Given the description of an element on the screen output the (x, y) to click on. 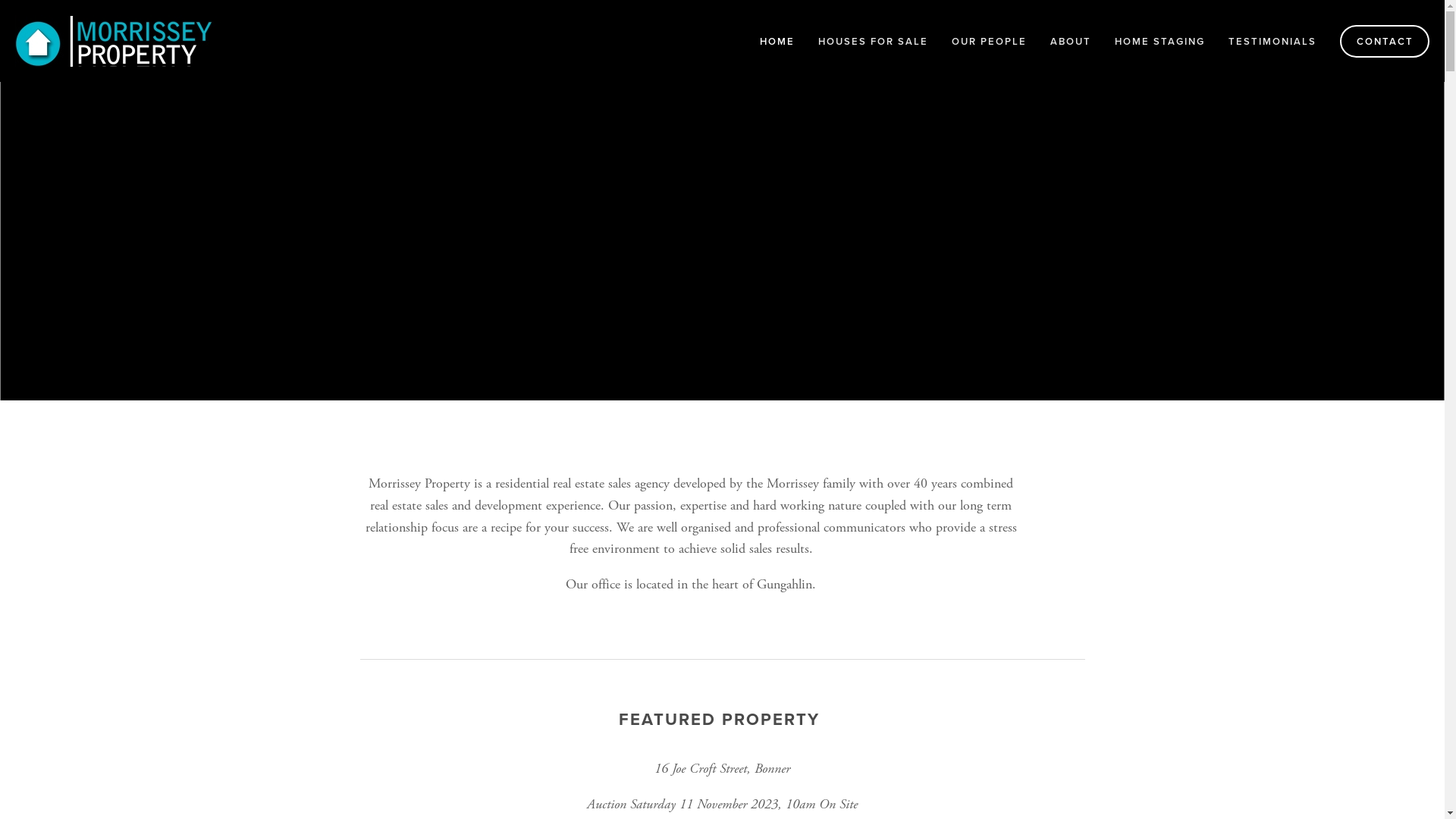
CONTACT Element type: text (1384, 40)
OUR PEOPLE Element type: text (988, 40)
ABOUT Element type: text (1070, 40)
HOME Element type: text (776, 40)
TESTIMONIALS Element type: text (1272, 40)
HOUSES FOR SALE Element type: text (873, 40)
HOME STAGING Element type: text (1159, 40)
